Given the description of an element on the screen output the (x, y) to click on. 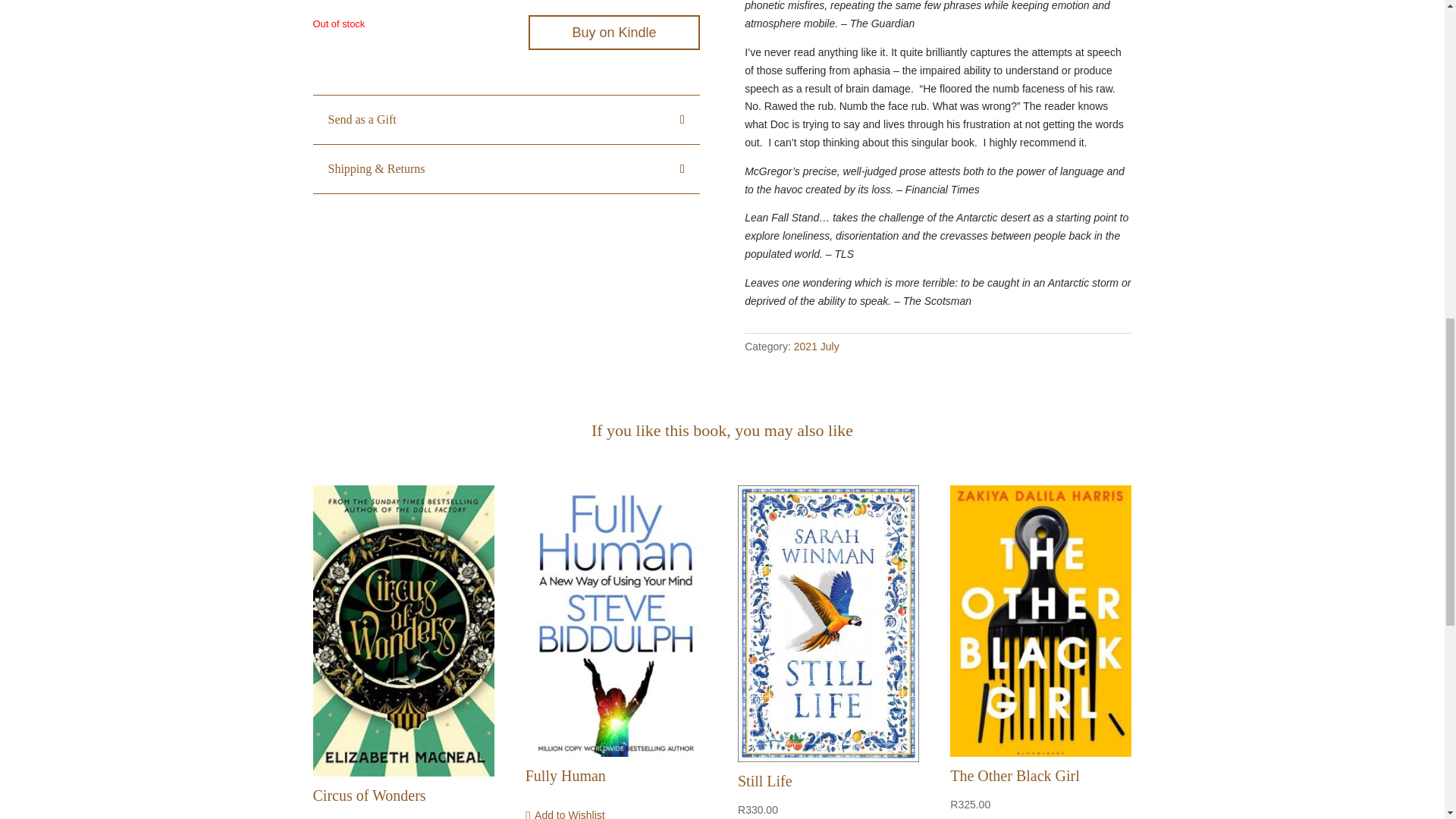
Buy on Kindle (613, 32)
2021 July (816, 346)
Add to Wishlist (565, 812)
